Given the description of an element on the screen output the (x, y) to click on. 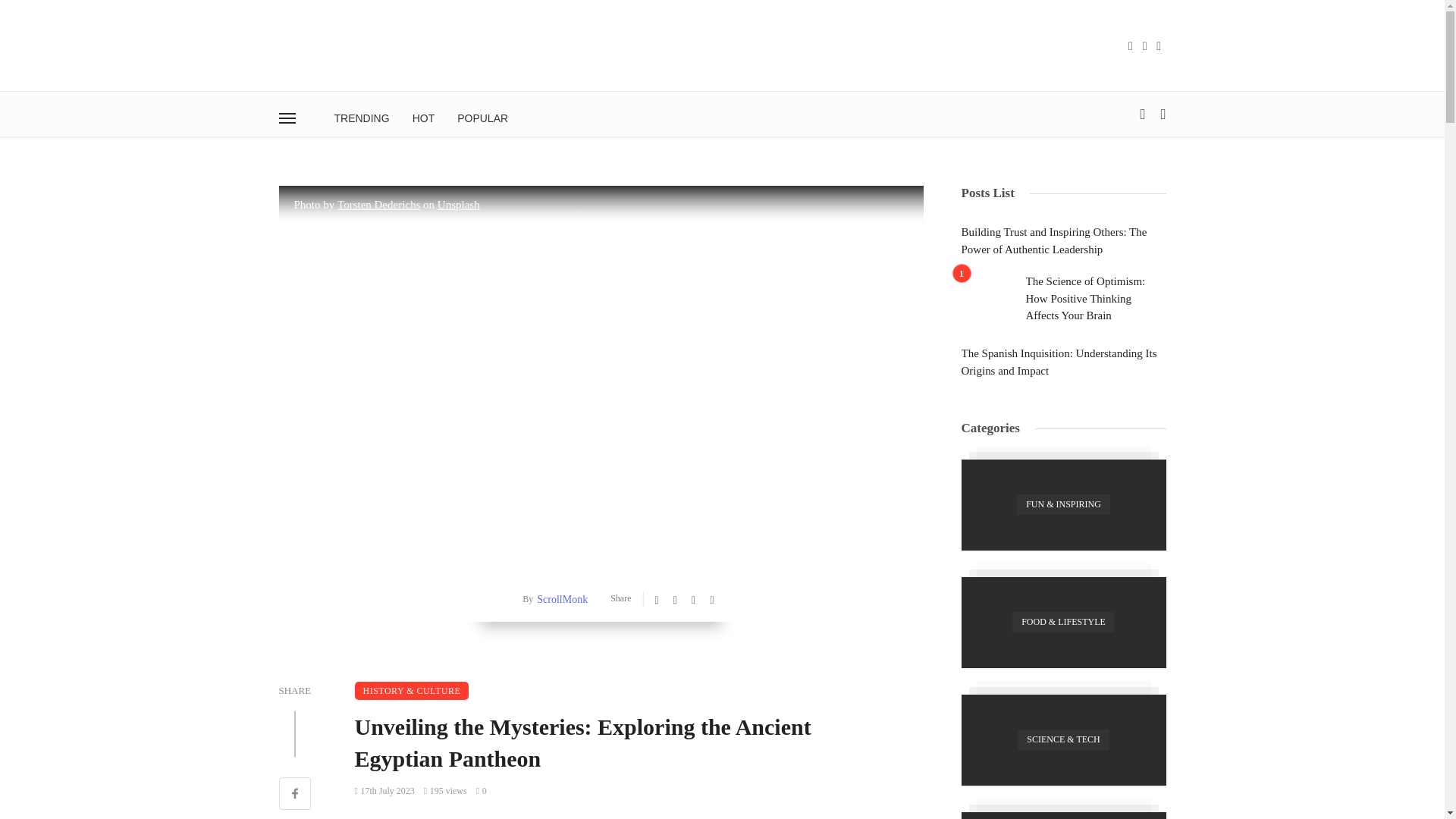
July 17, 2023 at 9:49 pm (384, 790)
POPULAR (482, 117)
HOT (423, 117)
0 (481, 790)
Torsten Dederichs (378, 204)
ScrollMonk (560, 599)
0 Comments (481, 790)
TRENDING (362, 117)
Unsplash (459, 204)
Posts by ScrollMonk (560, 599)
Share on Facebook (295, 795)
